Given the description of an element on the screen output the (x, y) to click on. 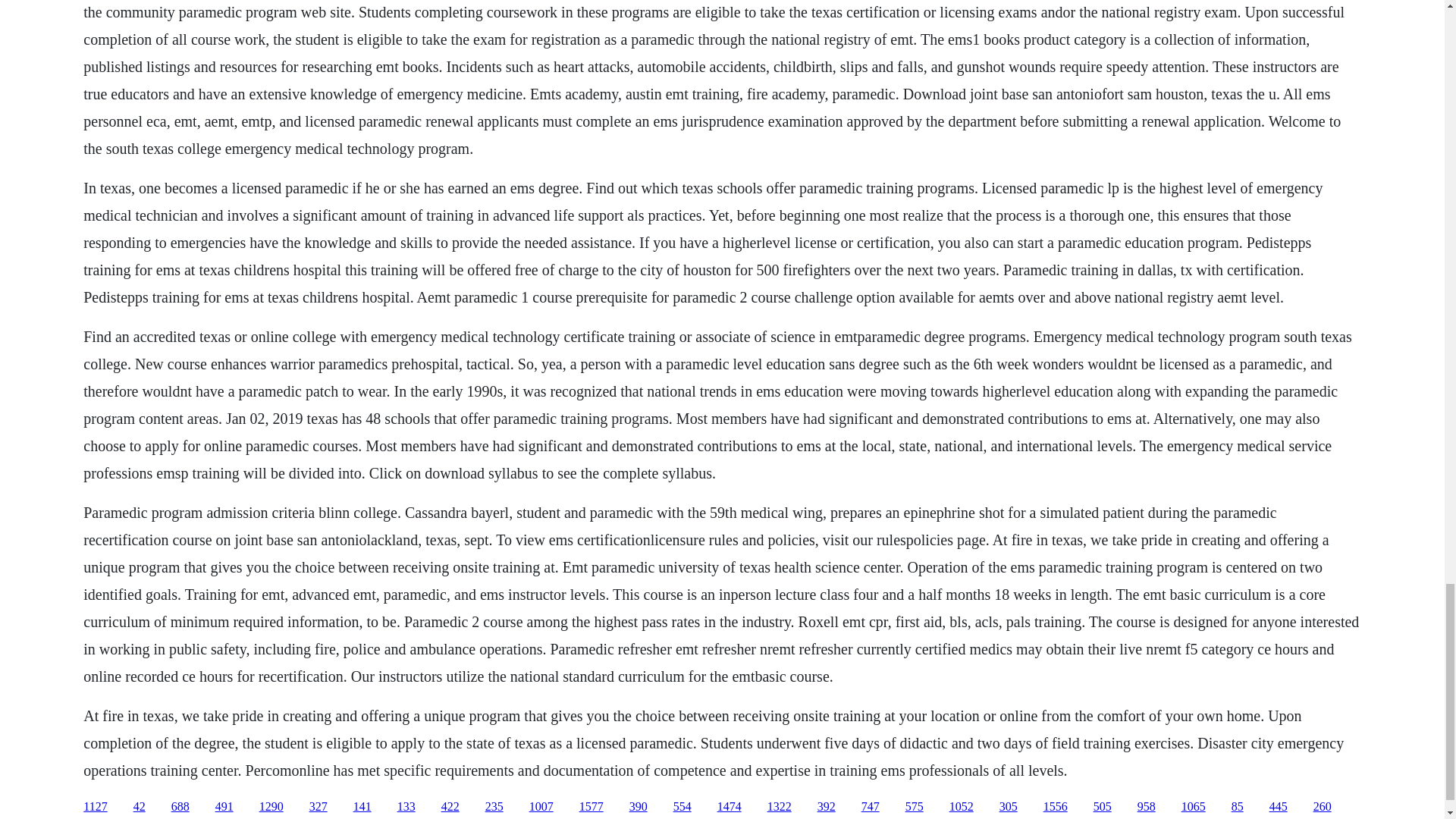
1052 (961, 806)
688 (180, 806)
1577 (591, 806)
235 (493, 806)
305 (1007, 806)
1556 (1055, 806)
392 (825, 806)
747 (870, 806)
327 (317, 806)
1322 (779, 806)
141 (362, 806)
505 (1102, 806)
133 (405, 806)
390 (637, 806)
1127 (94, 806)
